Given the description of an element on the screen output the (x, y) to click on. 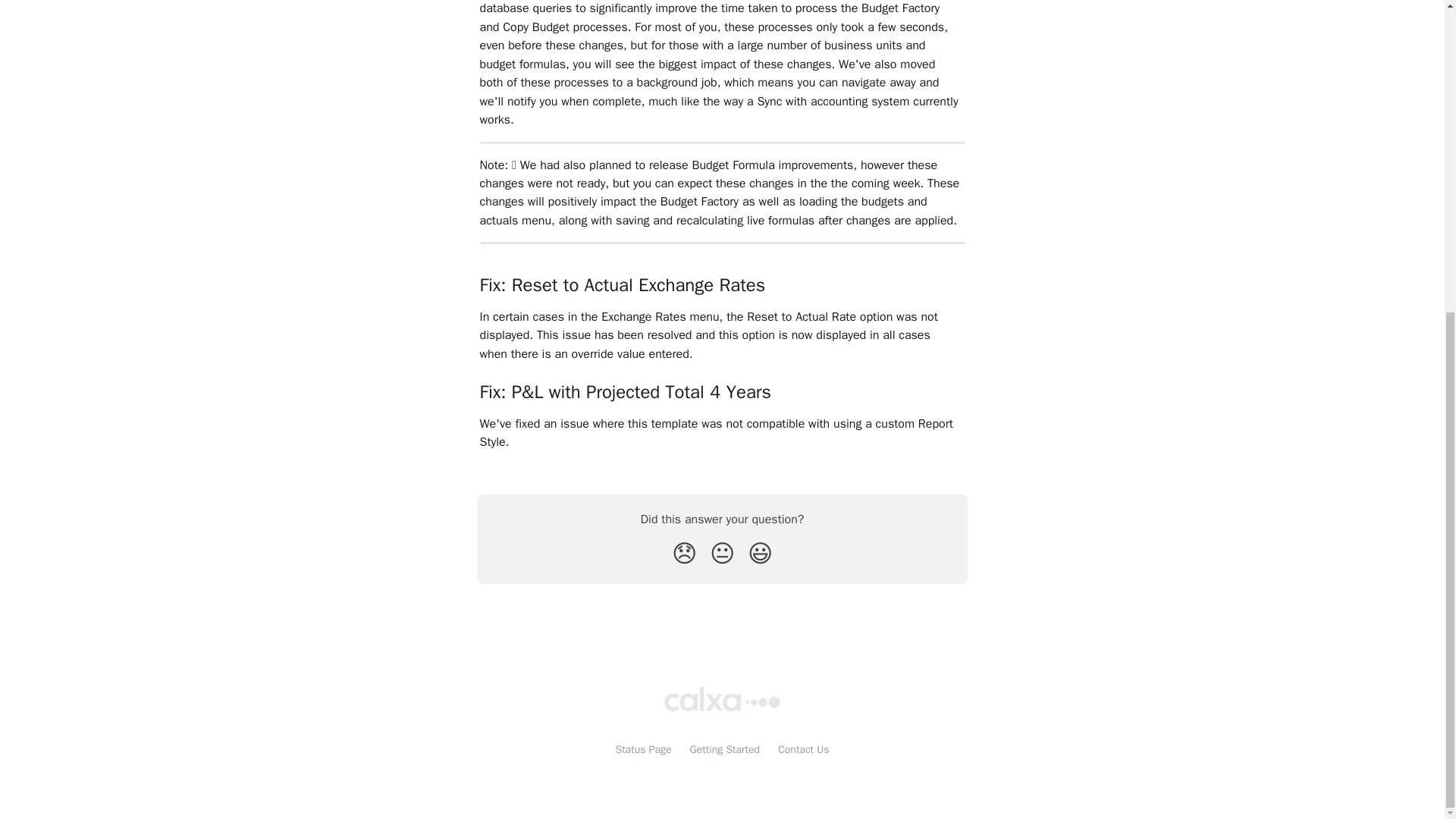
Status Page (642, 748)
Getting Started (725, 748)
Contact Us (802, 748)
